Given the description of an element on the screen output the (x, y) to click on. 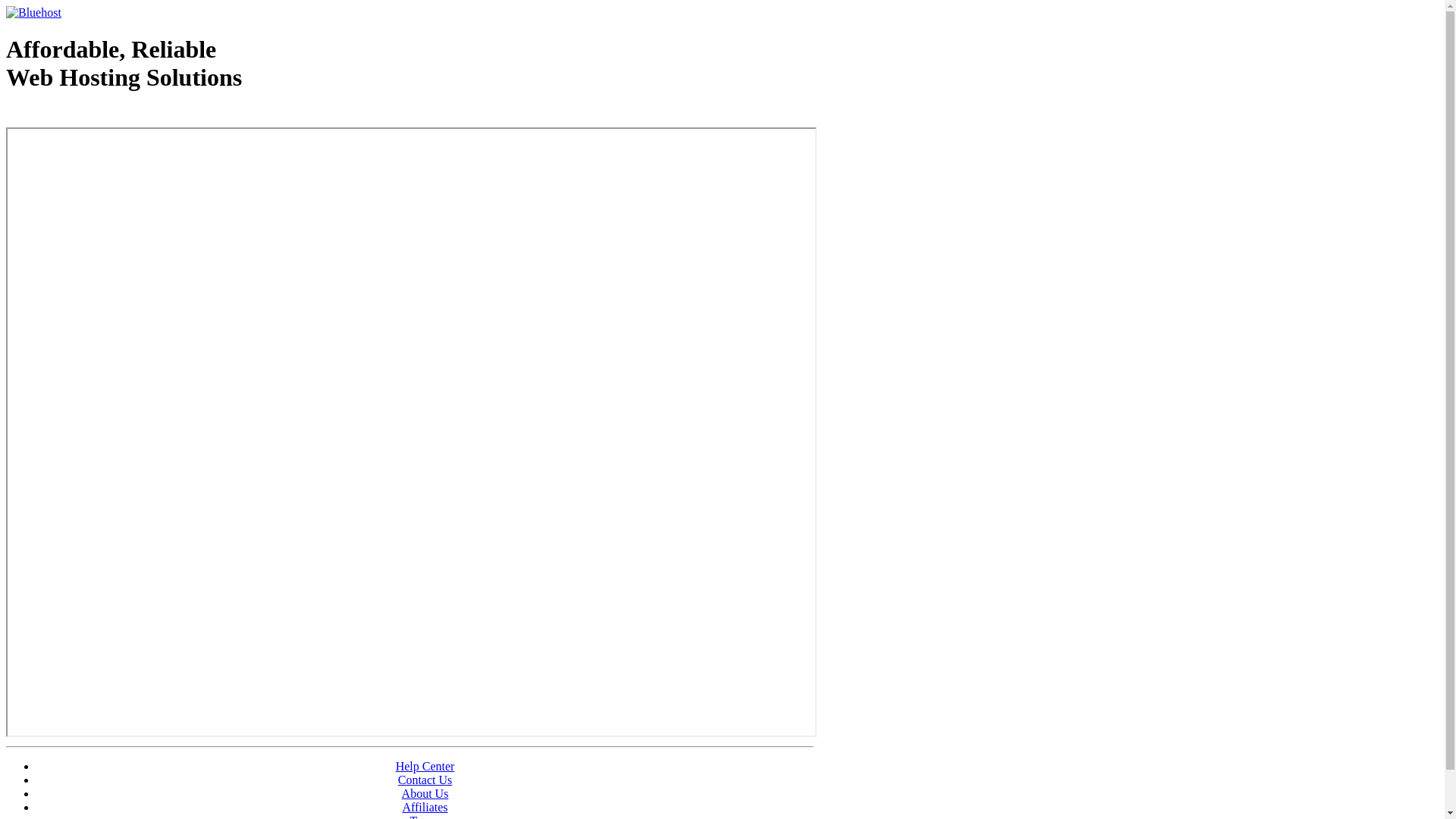
Affiliates Element type: text (424, 806)
About Us Element type: text (424, 793)
Help Center Element type: text (425, 765)
Contact Us Element type: text (425, 779)
Web Hosting - courtesy of www.bluehost.com Element type: text (94, 115)
